Given the description of an element on the screen output the (x, y) to click on. 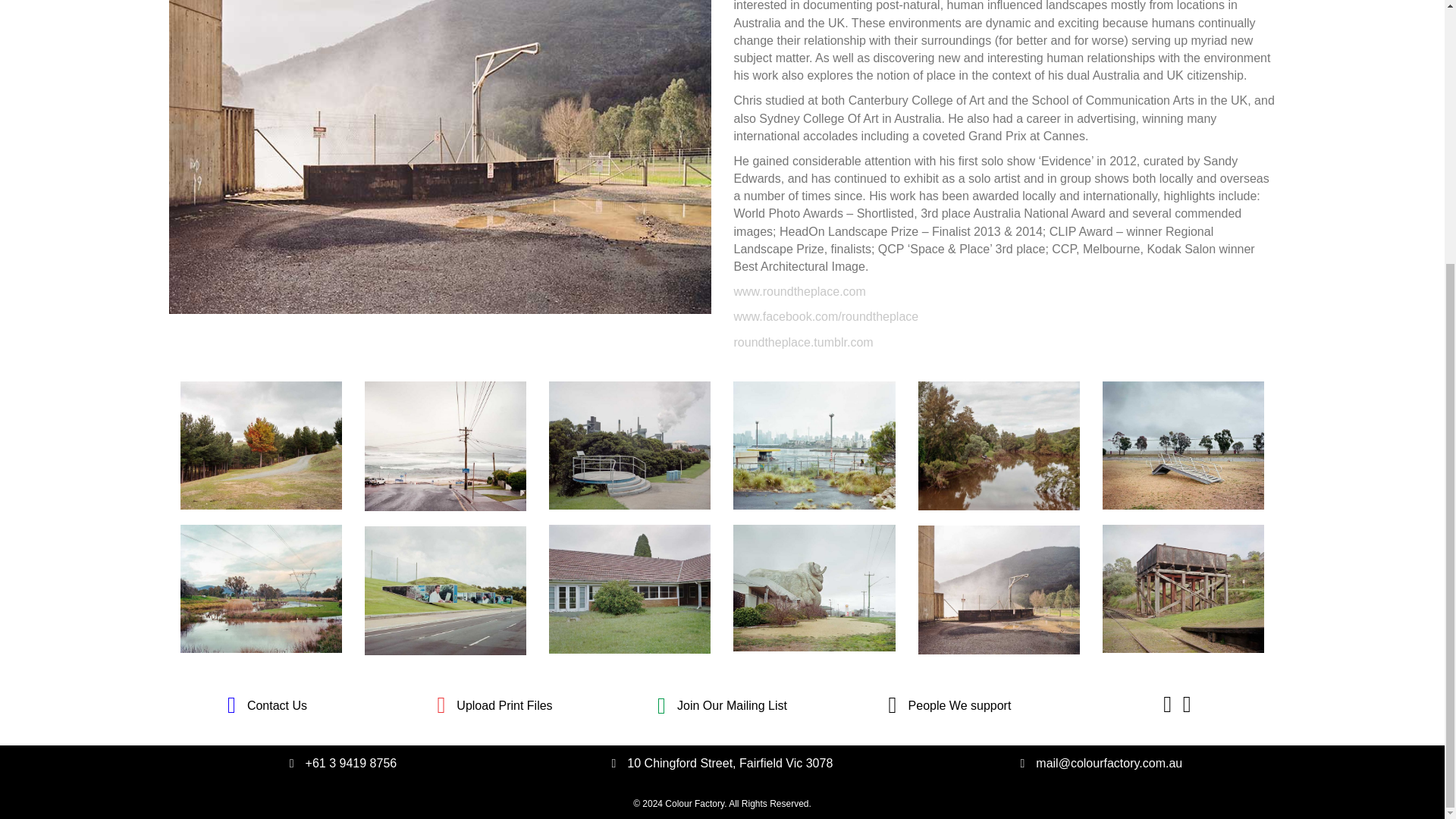
www.roundtheplace.com (799, 291)
Contact Us (277, 705)
Join Our Mailing List (732, 705)
People We support (959, 705)
Upload Print Files (504, 705)
roundtheplace.tumblr.com (803, 341)
